Given the description of an element on the screen output the (x, y) to click on. 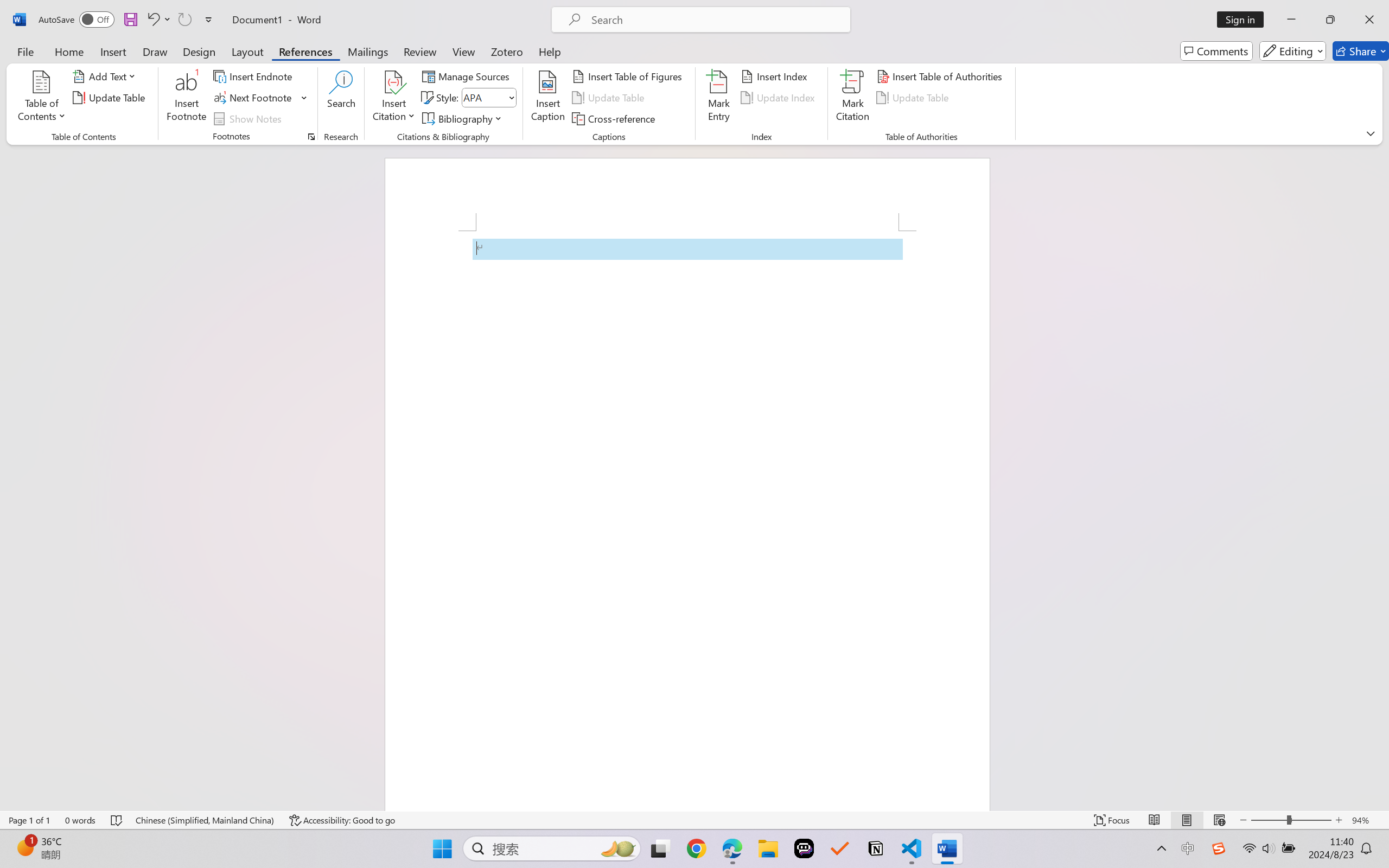
Mark Entry... (718, 97)
Sign in (1244, 19)
Cross-reference... (615, 118)
Next Footnote (253, 97)
Language Chinese (Simplified, Mainland China) (205, 819)
